Given the description of an element on the screen output the (x, y) to click on. 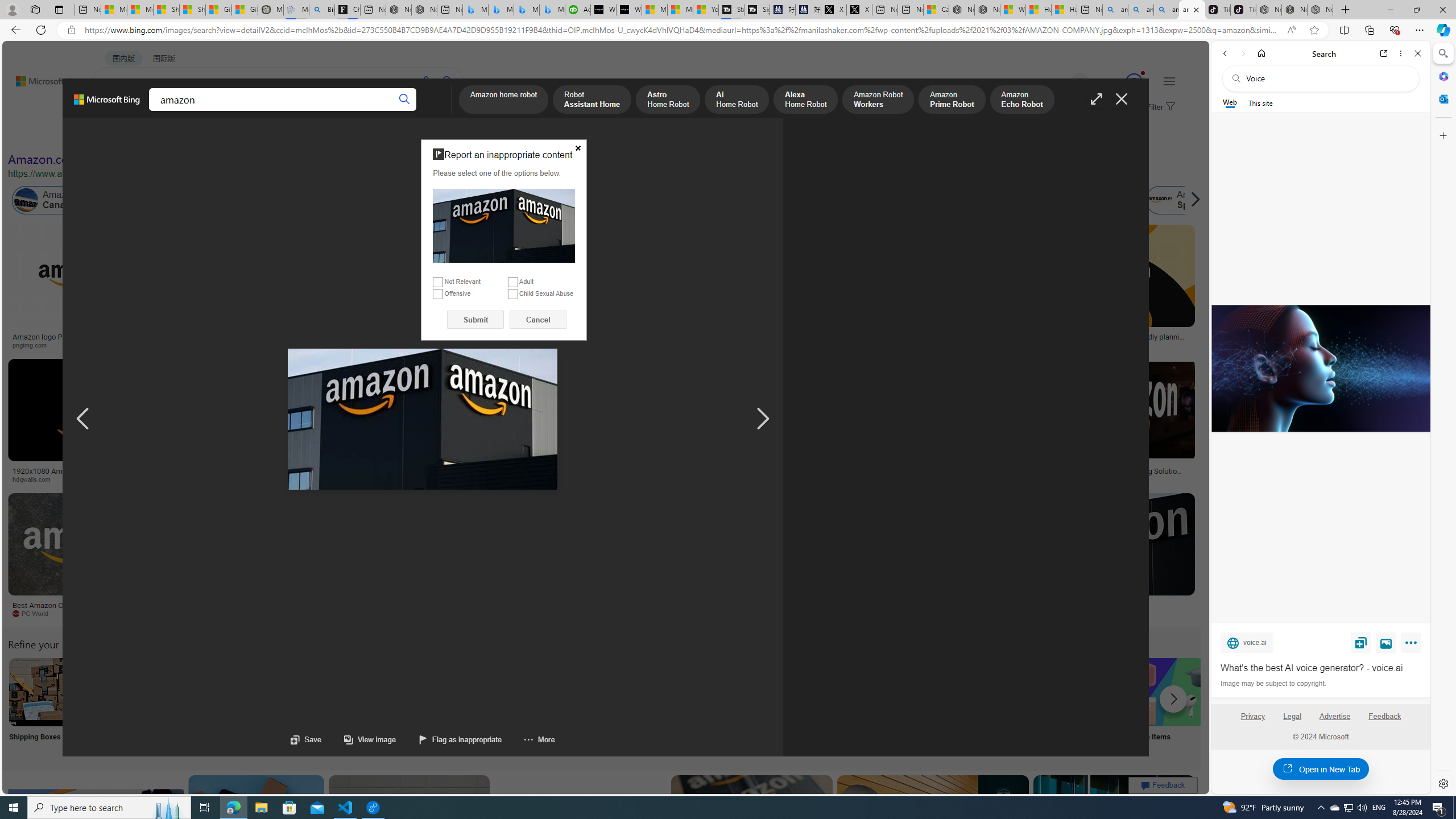
Astro Home Robot (668, 100)
Back to Bing search (41, 78)
Forward (1242, 53)
usatoday.com (334, 344)
thewrap.com (533, 613)
Amazon (1032, 605)
